Given the description of an element on the screen output the (x, y) to click on. 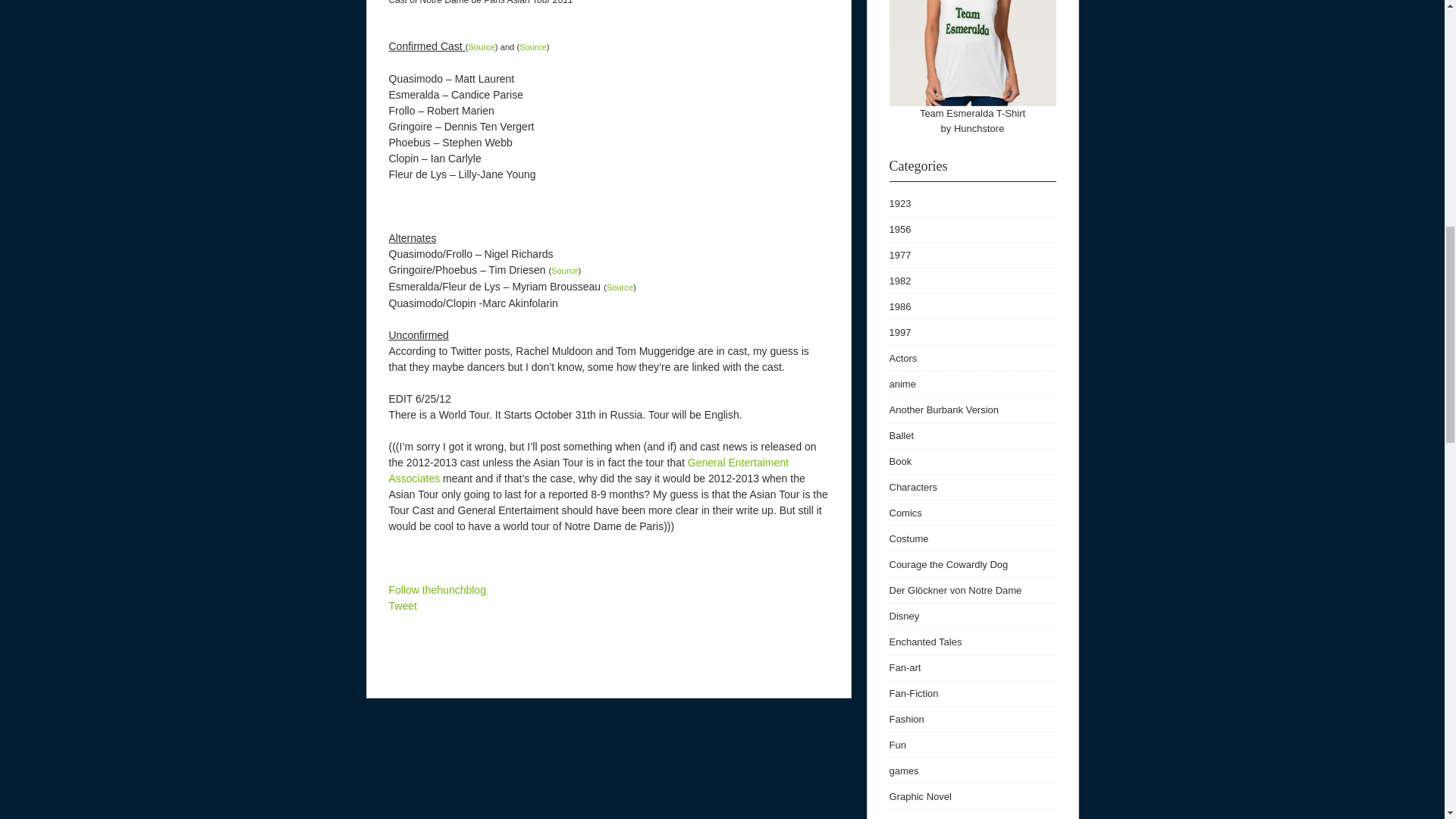
Source (620, 286)
Comics (904, 512)
Ballet (901, 435)
Hunchstore (978, 128)
Tweet (402, 605)
anime (901, 383)
Costume (908, 538)
General Entertaiment Associates (587, 470)
1923 (899, 203)
1982 (899, 280)
Book (899, 460)
1956 (899, 229)
Source (532, 46)
1977 (899, 255)
Another Burbank Version (943, 409)
